Given the description of an element on the screen output the (x, y) to click on. 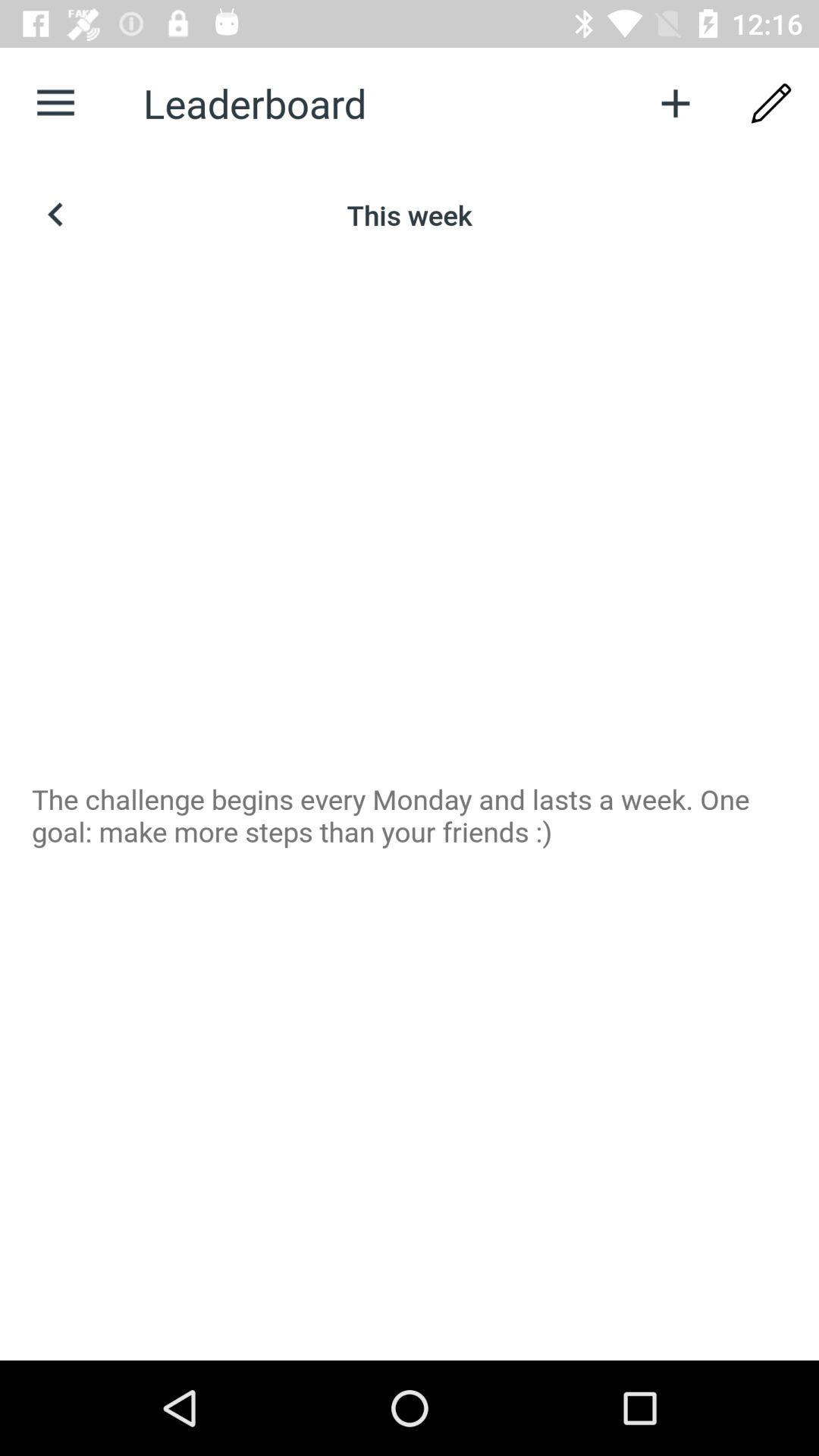
turn on item next to the leaderboard item (55, 103)
